Given the description of an element on the screen output the (x, y) to click on. 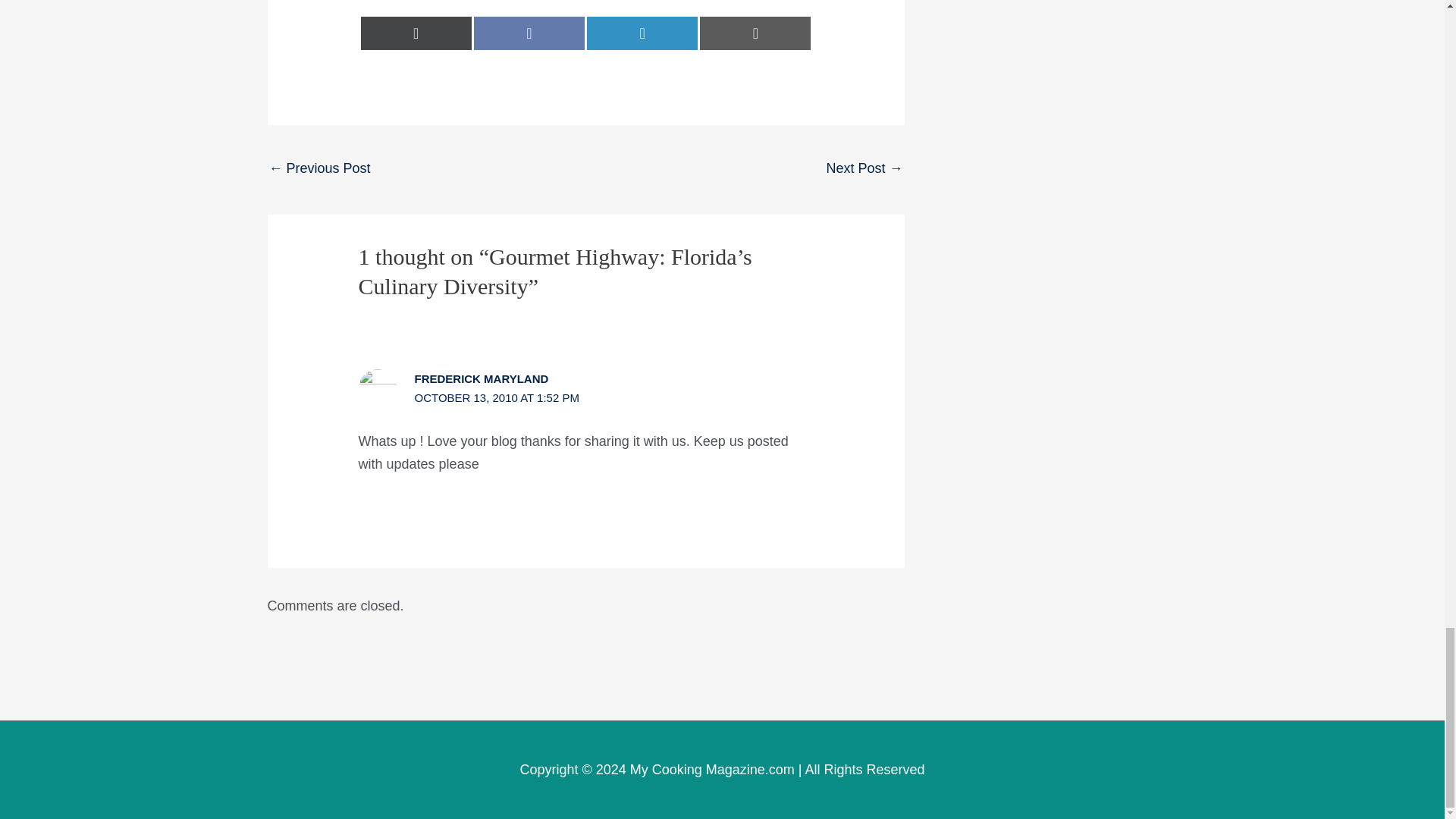
FREDERICK MARYLAND (481, 378)
Food Buzz: Halloumi Cheese (863, 169)
Share on LinkedIn (641, 32)
OCTOBER 13, 2010 AT 1:52 PM (496, 397)
Share on Facebook (529, 32)
Share on Email (755, 32)
